Given the description of an element on the screen output the (x, y) to click on. 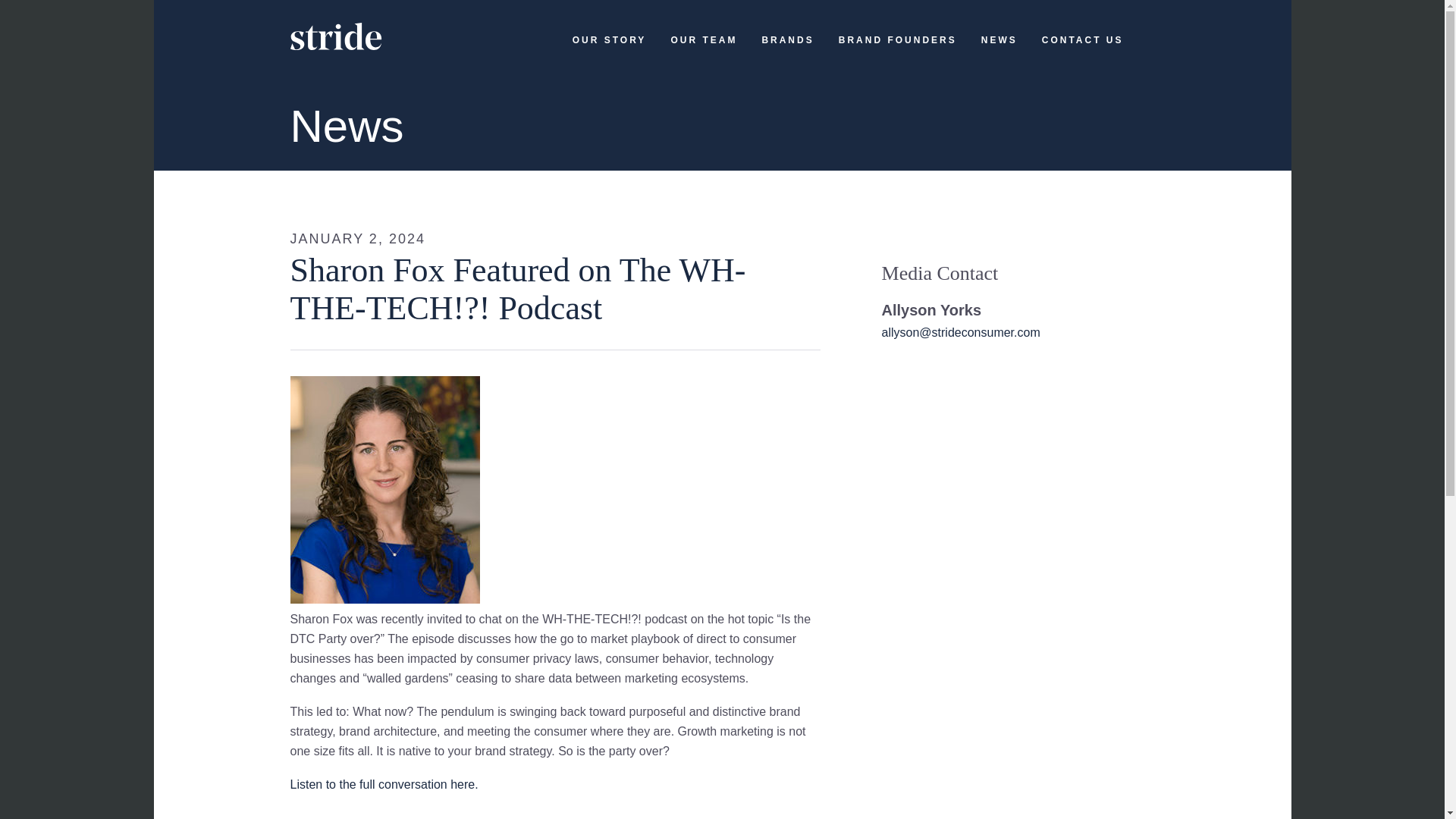
BRAND FOUNDERS (897, 52)
OUR TEAM (702, 52)
Listen to the full conversation here. (383, 784)
NEWS (999, 52)
BRANDS (787, 52)
OUR STORY (609, 52)
CONTACT US (1083, 52)
